Given the description of an element on the screen output the (x, y) to click on. 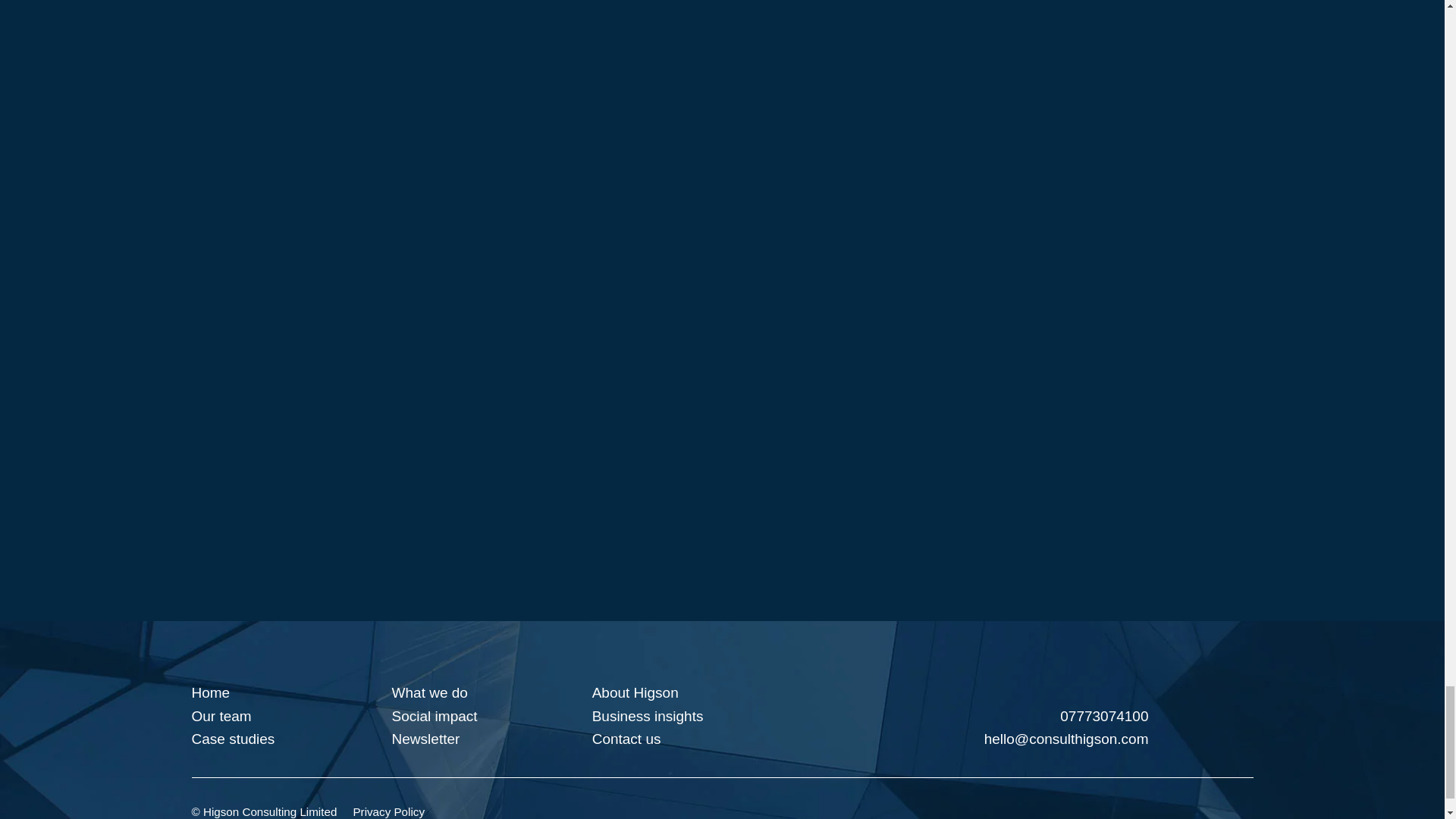
What we do (429, 692)
Contact us (626, 738)
Privacy Policy (388, 811)
About Higson (635, 692)
Business insights (647, 715)
Our team (220, 715)
Case studies (232, 738)
Social impact (434, 715)
Newsletter (425, 738)
07773074100 (983, 716)
Home (210, 692)
